Given the description of an element on the screen output the (x, y) to click on. 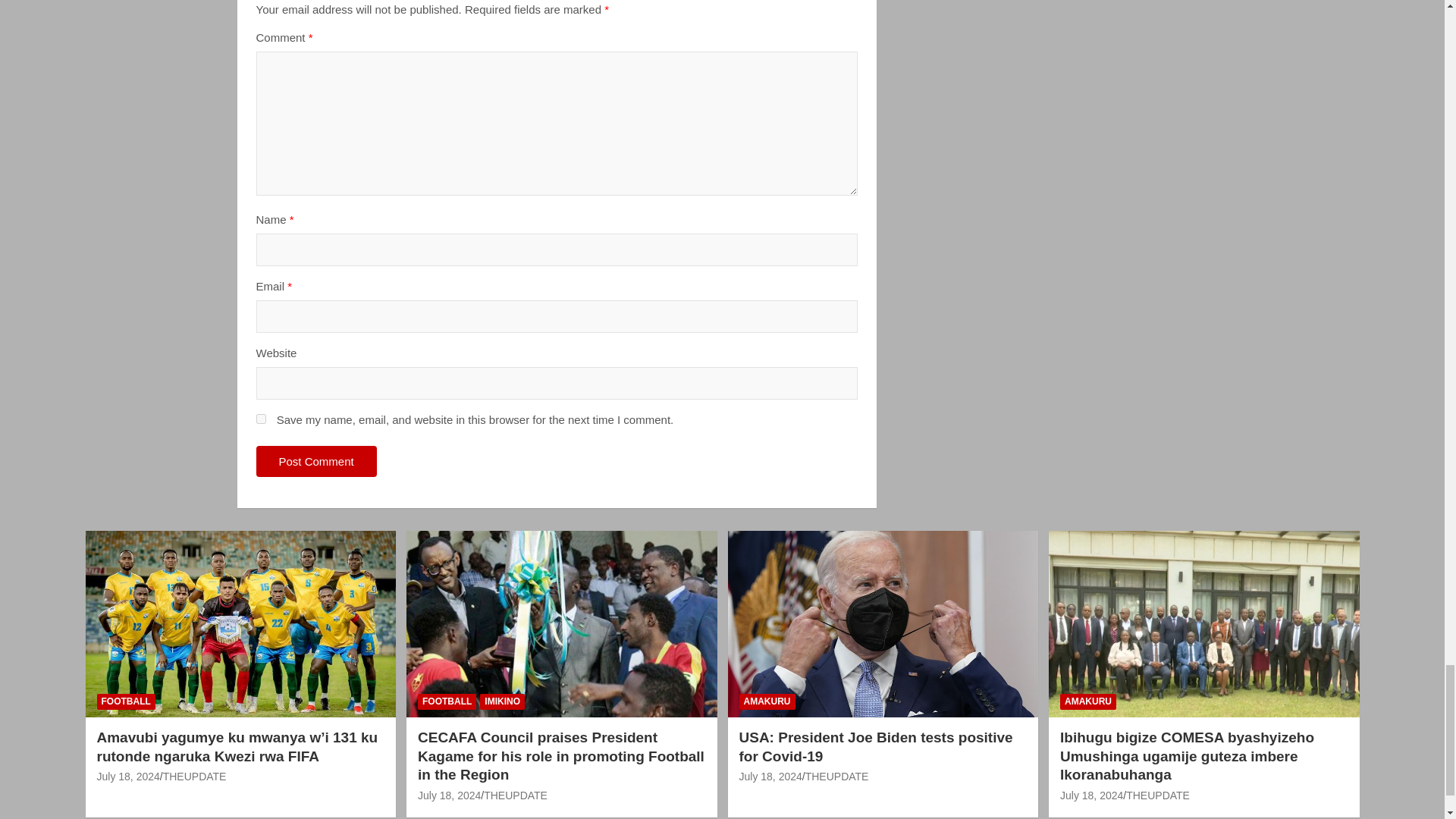
yes (261, 419)
Post Comment (316, 460)
